Given the description of an element on the screen output the (x, y) to click on. 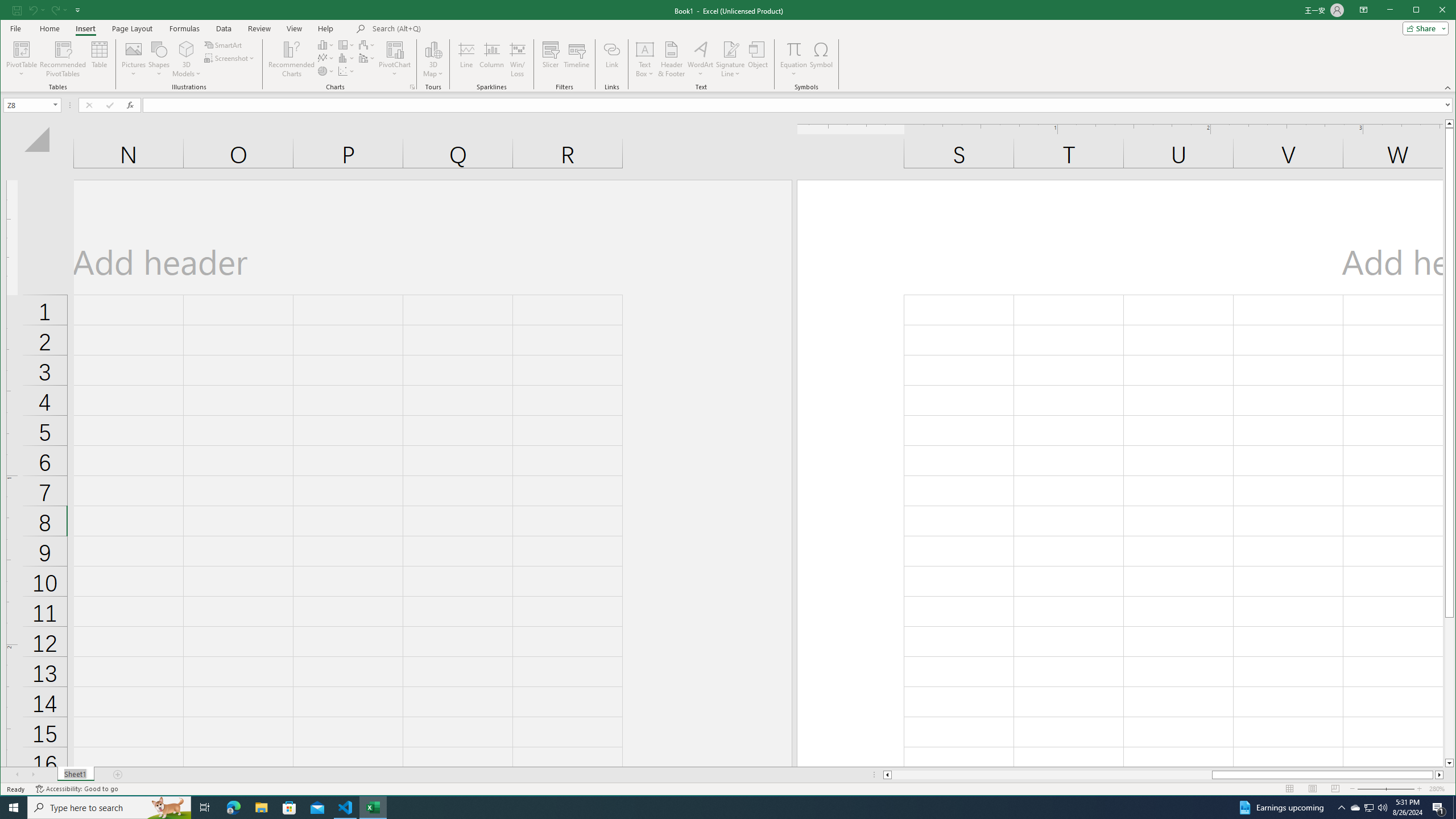
Running applications (717, 807)
PivotTable (22, 48)
Insert Column or Bar Chart (325, 44)
User Promoted Notification Area (1368, 807)
WordArt (699, 59)
Sheet Tab (75, 774)
3D Models (186, 59)
Notification Chevron (1341, 807)
Insert Waterfall, Funnel, Stock, Surface, or Radar Chart (366, 44)
3D Map (432, 59)
